Given the description of an element on the screen output the (x, y) to click on. 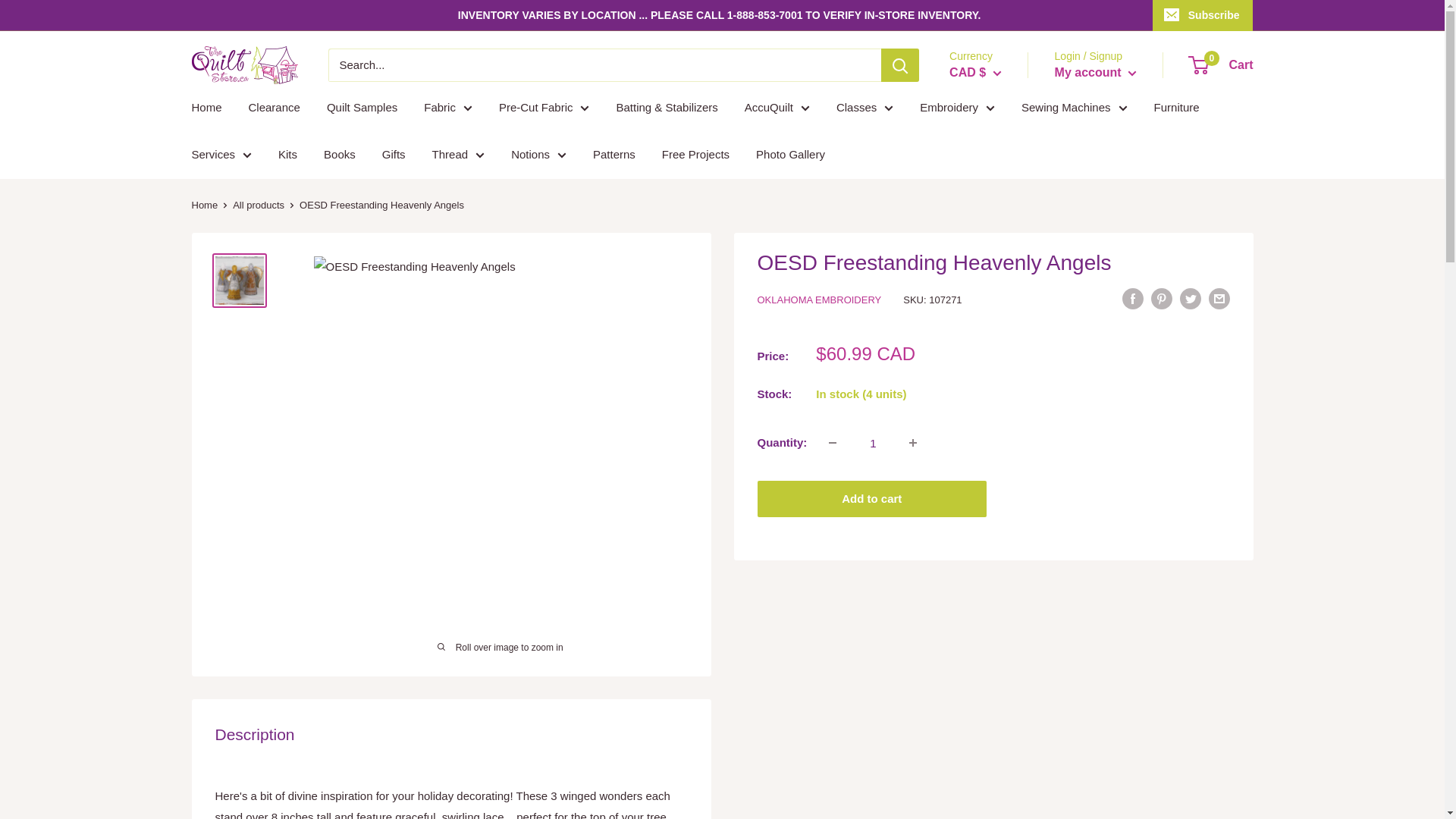
Increase quantity by 1 (912, 442)
Decrease quantity by 1 (832, 442)
1 (872, 442)
Subscribe (1203, 15)
